Given the description of an element on the screen output the (x, y) to click on. 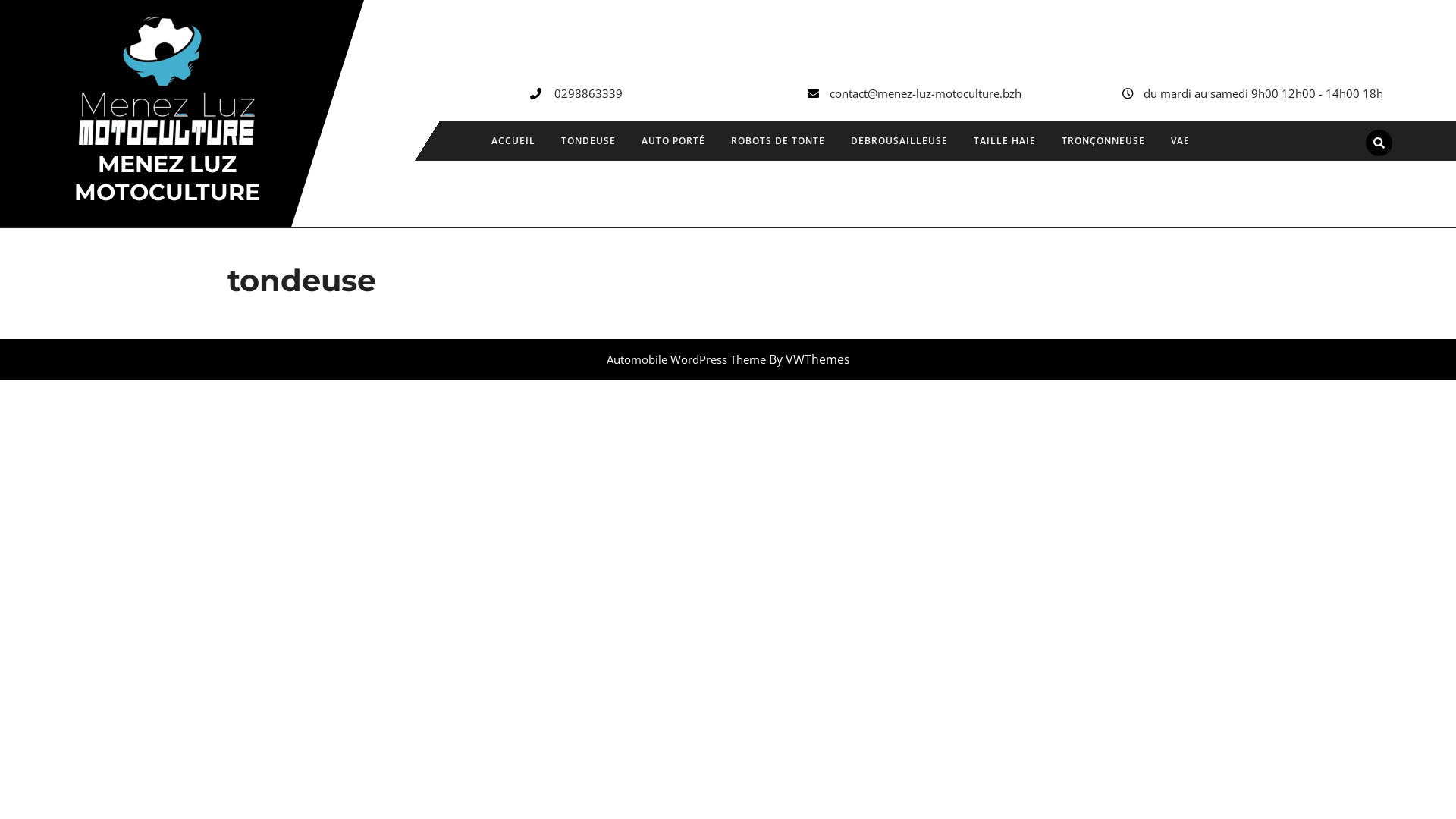
TAILLE HAIE Element type: text (1004, 140)
ACCUEIL Element type: text (513, 140)
ROBOTS DE TONTE Element type: text (777, 140)
MENEZ LUZ MOTOCULTURE Element type: text (167, 178)
TONDEUSE Element type: text (588, 140)
contact@menez-luz-motoculture.bzh Element type: text (925, 92)
DEBROUSAILLEUSE Element type: text (899, 140)
Automobile WordPress Theme Element type: text (685, 359)
VAE Element type: text (1180, 140)
0298863339 Element type: text (588, 92)
